Given the description of an element on the screen output the (x, y) to click on. 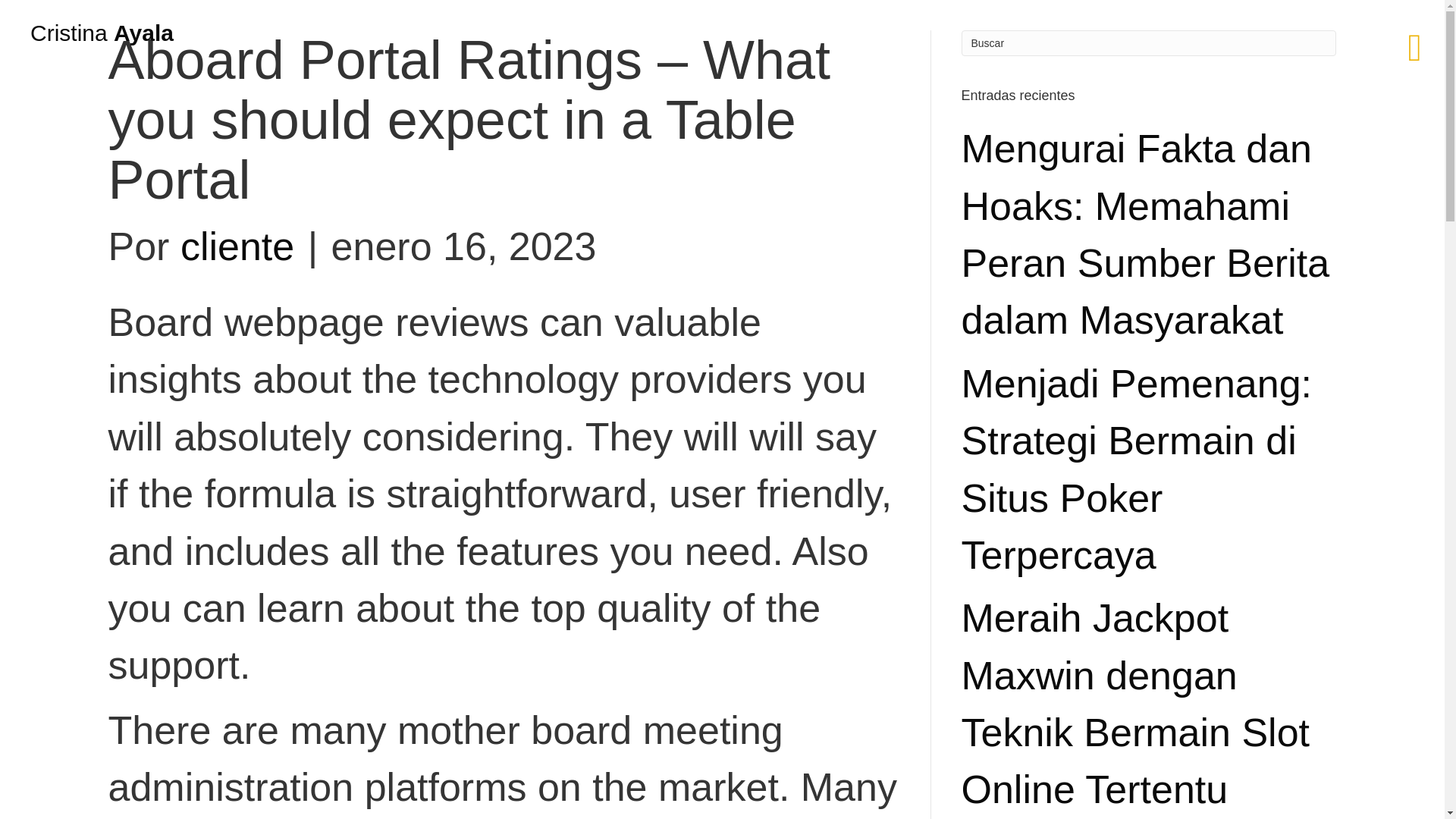
archivo (86, 242)
Menjadi Pemenang: Strategi Bermain di Situs Poker Terpercaya (1136, 469)
Buscar (1148, 43)
Escribe y pulsa Enter para buscar. (1148, 43)
Cristina Ayala (101, 32)
cliente (237, 246)
Buscar (1148, 43)
